Given the description of an element on the screen output the (x, y) to click on. 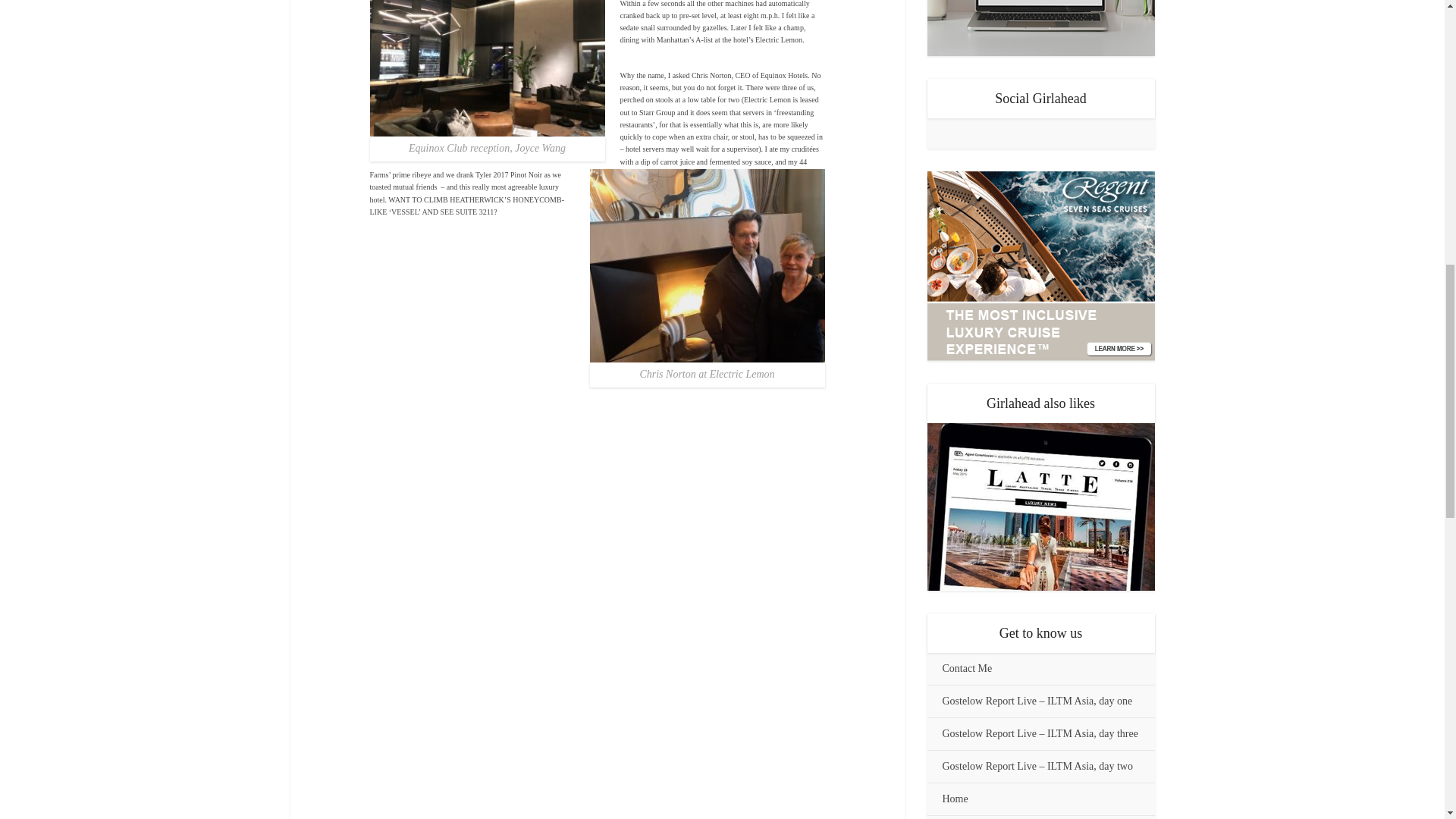
YouTube player (597, 368)
YouTube player (597, 648)
